Given the description of an element on the screen output the (x, y) to click on. 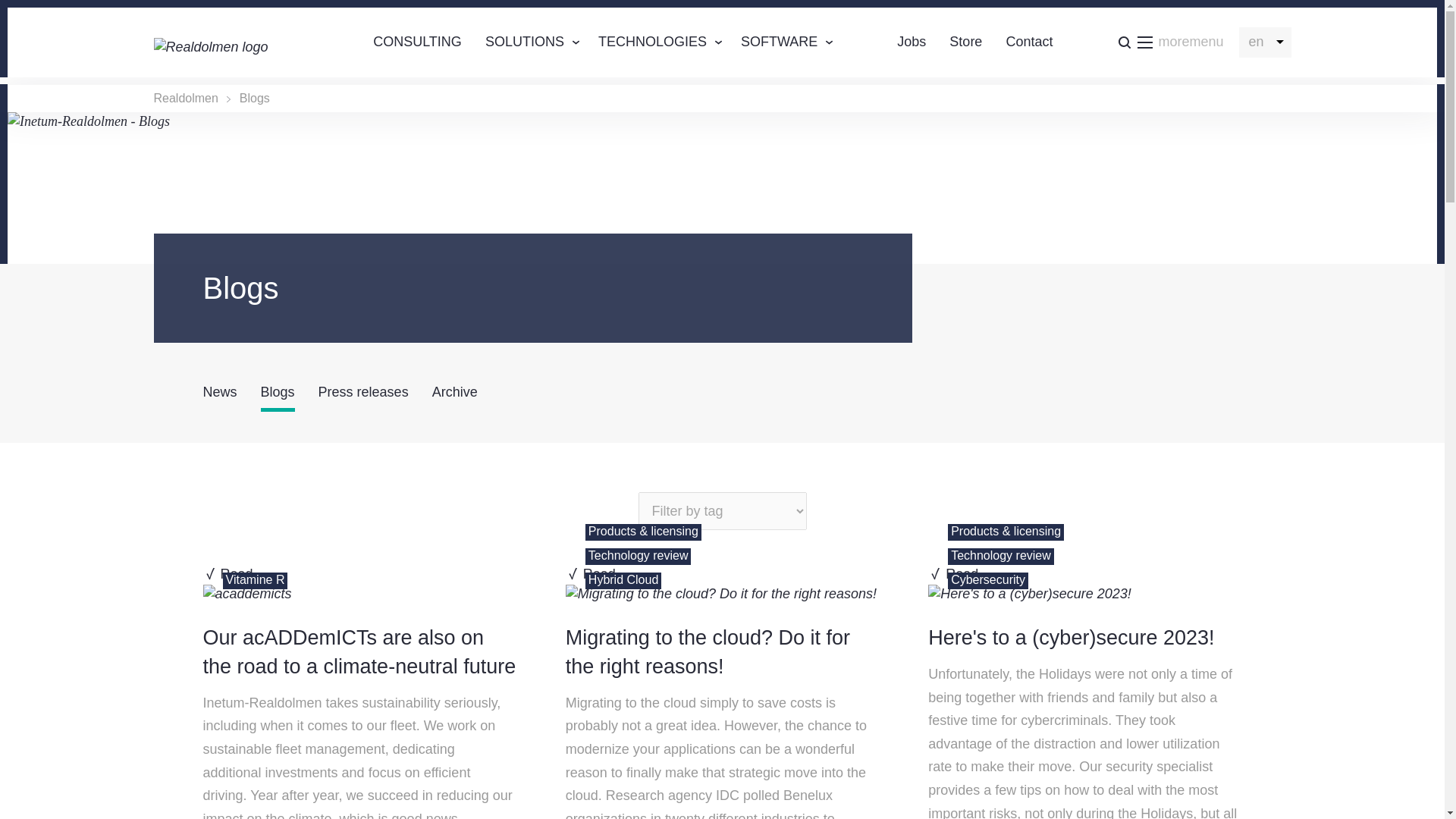
CONSULTING (416, 42)
Store (965, 42)
SOLUTIONS (524, 42)
Jobs (911, 42)
Migrating to the cloud? Do it for the right reasons! (721, 594)
Contact (1170, 42)
Skip to main content (1028, 42)
SOFTWARE (652, 42)
